Given the description of an element on the screen output the (x, y) to click on. 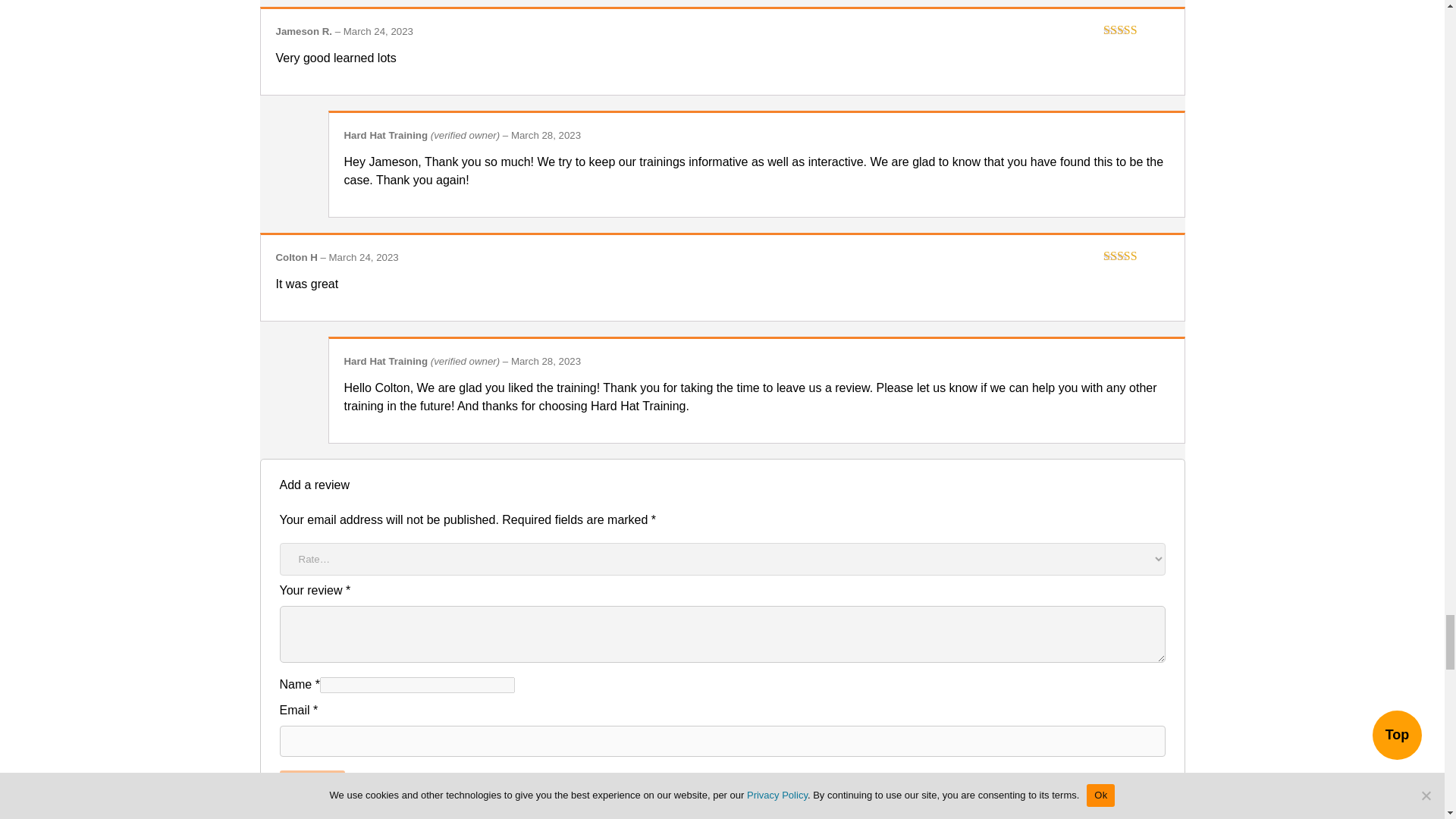
Submit (311, 783)
